Given the description of an element on the screen output the (x, y) to click on. 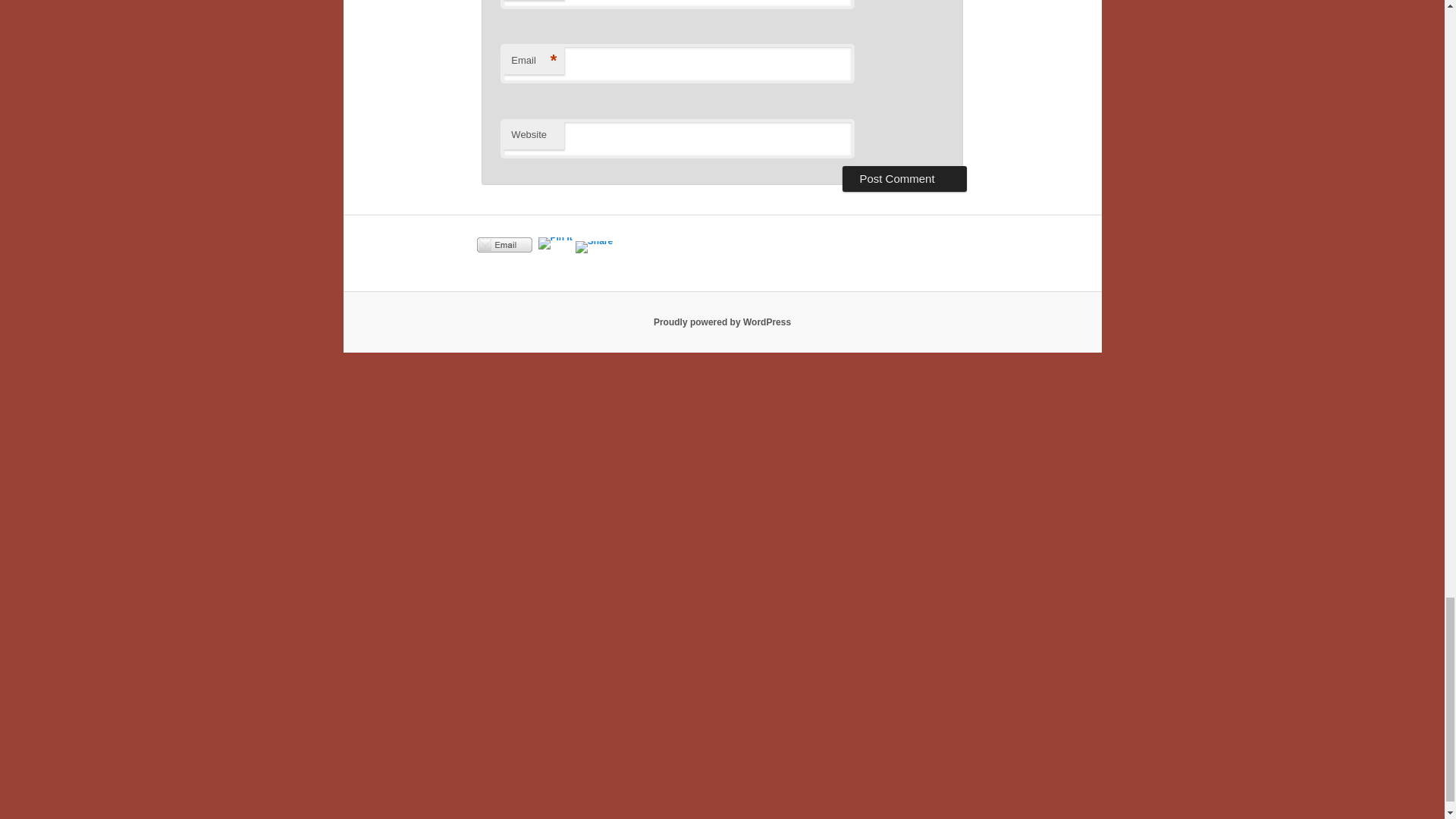
Post Comment (904, 178)
Share (503, 244)
Semantic Personal Publishing Platform (721, 321)
Pin It (555, 243)
